Given the description of an element on the screen output the (x, y) to click on. 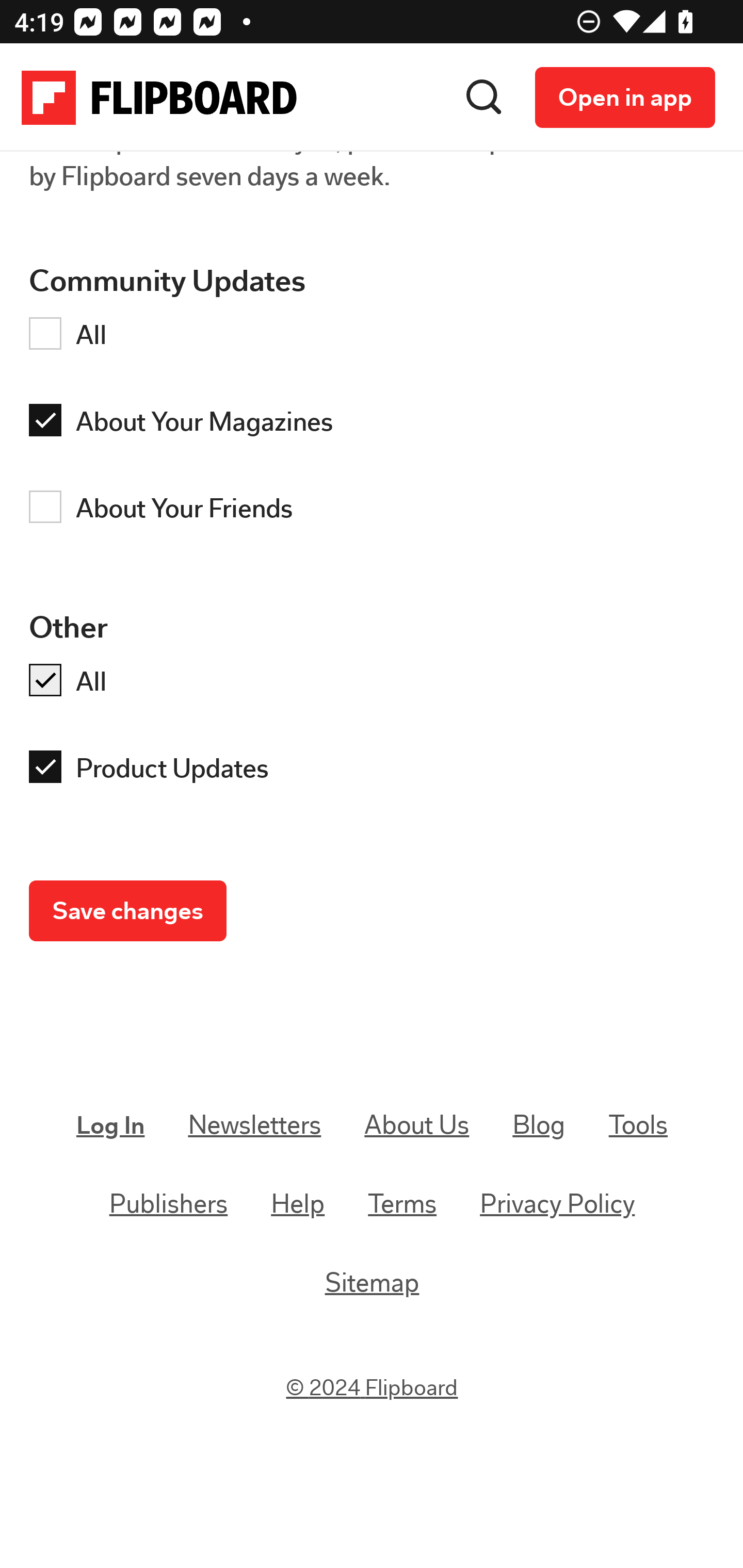
Open in app (625, 97)
Search (484, 97)
All (376, 338)
checkmark About Your Magazines (376, 424)
About Your Friends (376, 510)
checkmark All (376, 684)
checkmark Product Updates (376, 771)
Save changes (127, 912)
Newsletters (255, 1125)
About Us (416, 1125)
Blog (538, 1125)
Tools (638, 1125)
Log In (110, 1125)
Publishers (168, 1203)
Help (298, 1203)
Terms (401, 1203)
Privacy Policy (556, 1203)
Sitemap (371, 1282)
© 2024Flipboard ©  2024 Flipboard (372, 1388)
